Given the description of an element on the screen output the (x, y) to click on. 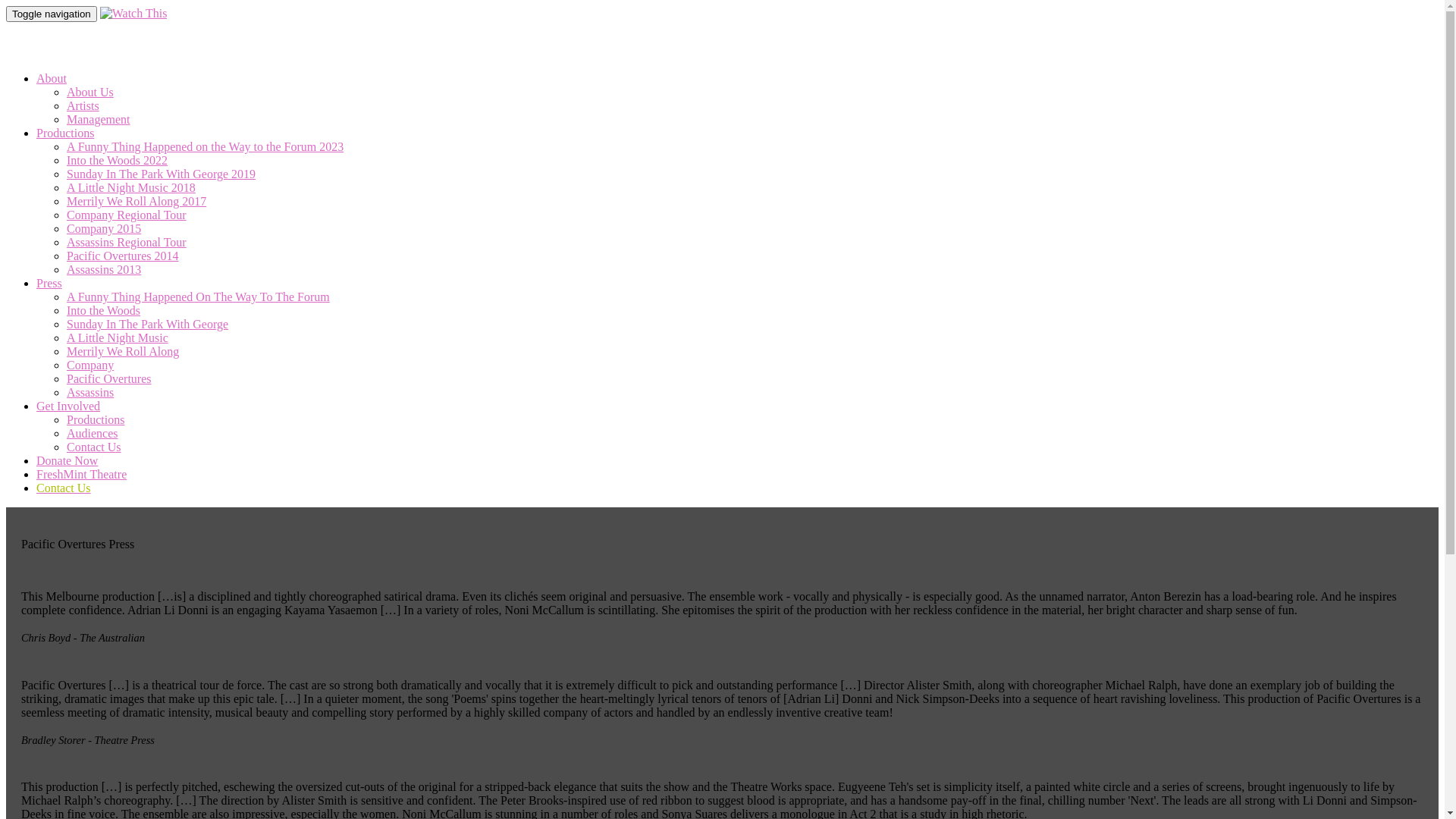
Assassins Regional Tour Element type: text (126, 241)
Productions Element type: text (95, 419)
Management Element type: text (98, 118)
Into the Woods Element type: text (103, 310)
A Little Night Music 2018 Element type: text (130, 187)
A Funny Thing Happened On The Way To The Forum Element type: text (197, 296)
Contact Us Element type: text (63, 487)
About Element type: text (51, 78)
Artists Element type: text (82, 105)
Into the Woods 2022 Element type: text (116, 159)
Press Element type: text (49, 282)
Company 2015 Element type: text (103, 228)
Sunday In The Park With George 2019 Element type: text (160, 173)
Contact Us Element type: text (93, 446)
Sunday In The Park With George Element type: text (147, 323)
Pacific Overtures 2014 Element type: text (122, 255)
Company Element type: text (89, 364)
Merrily We Roll Along 2017 Element type: text (136, 200)
Toggle navigation Element type: text (51, 13)
Get Involved Element type: text (68, 405)
Pacific Overtures Element type: text (108, 378)
A Funny Thing Happened on the Way to the Forum 2023 Element type: text (204, 146)
Assassins 2013 Element type: text (103, 269)
Company Regional Tour Element type: text (126, 214)
Donate Now Element type: text (66, 460)
Assassins Element type: text (89, 391)
A Little Night Music Element type: text (117, 337)
Productions Element type: text (65, 132)
Audiences Element type: text (92, 432)
FreshMint Theatre Element type: text (81, 473)
Merrily We Roll Along Element type: text (122, 351)
About Us Element type: text (89, 91)
